Given the description of an element on the screen output the (x, y) to click on. 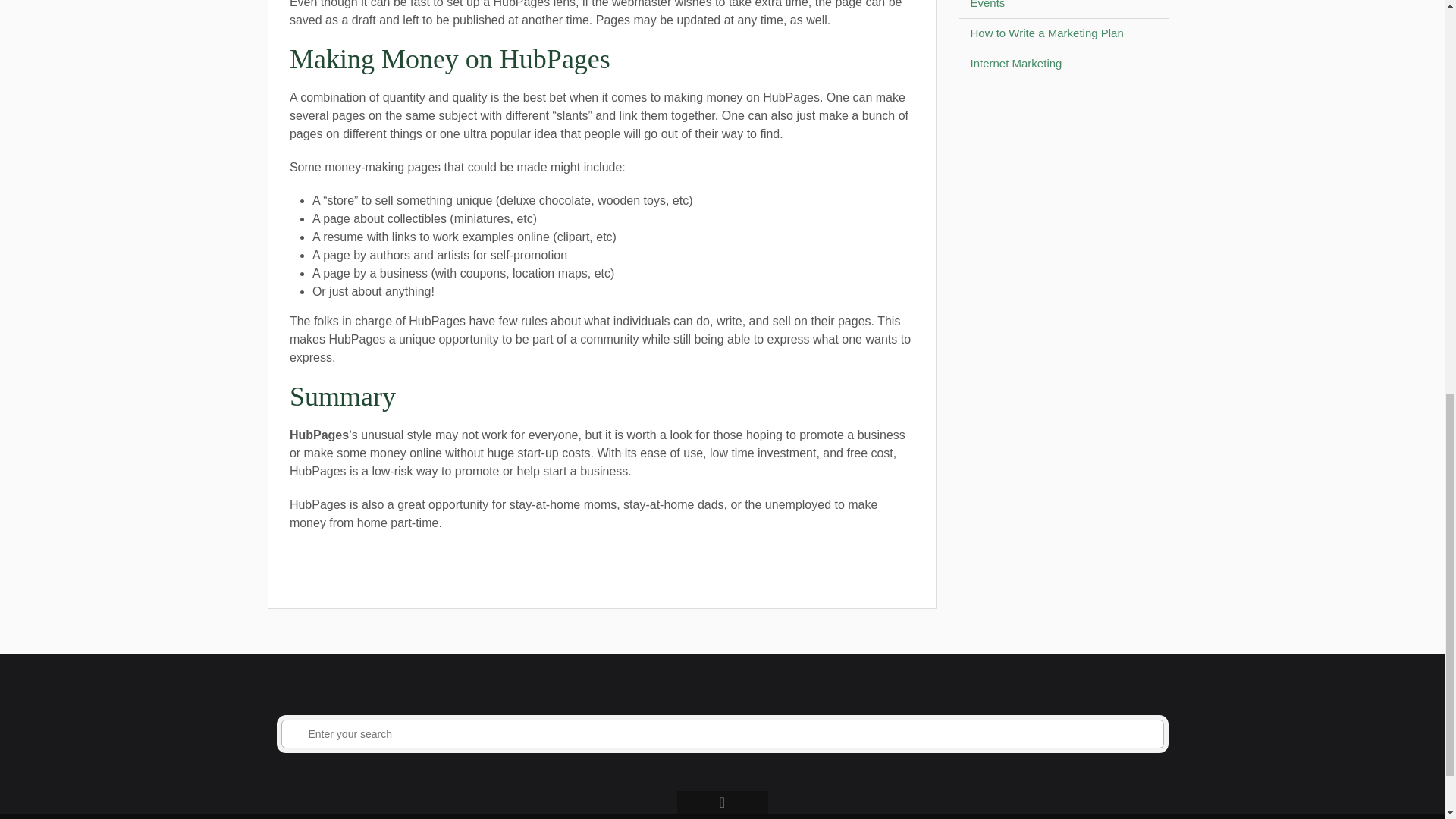
Search (295, 734)
